Given the description of an element on the screen output the (x, y) to click on. 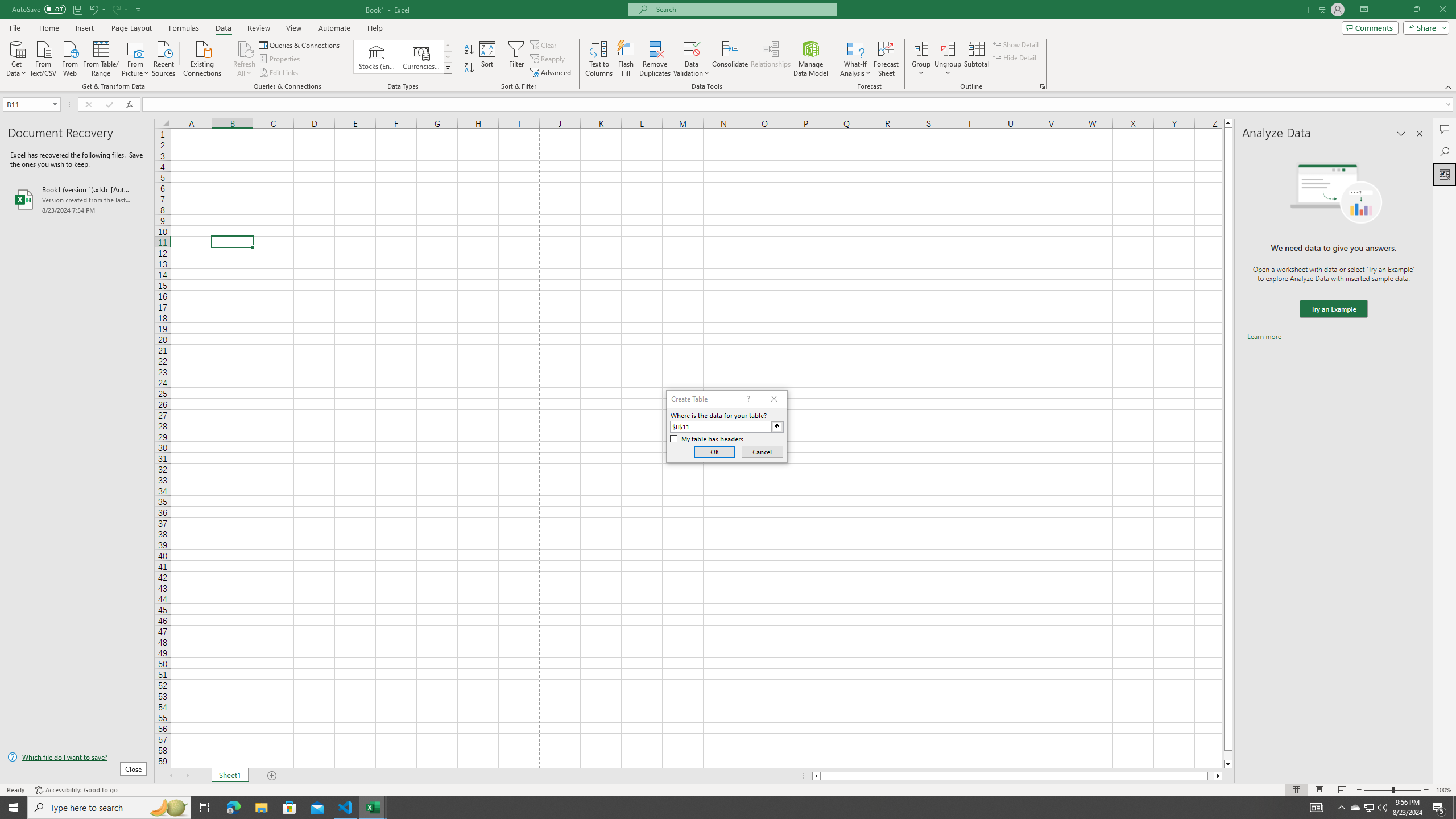
Group and Outline Settings (1042, 85)
Flash Fill (625, 58)
From Web (69, 57)
AutomationID: ConvertToLinkedEntity (403, 56)
Which file do I want to save? (77, 757)
Manage Data Model (810, 58)
Automate (334, 28)
Group... (921, 48)
Data (223, 28)
View (293, 28)
Review (258, 28)
Zoom Out (1377, 790)
Close (1442, 9)
